Given the description of an element on the screen output the (x, y) to click on. 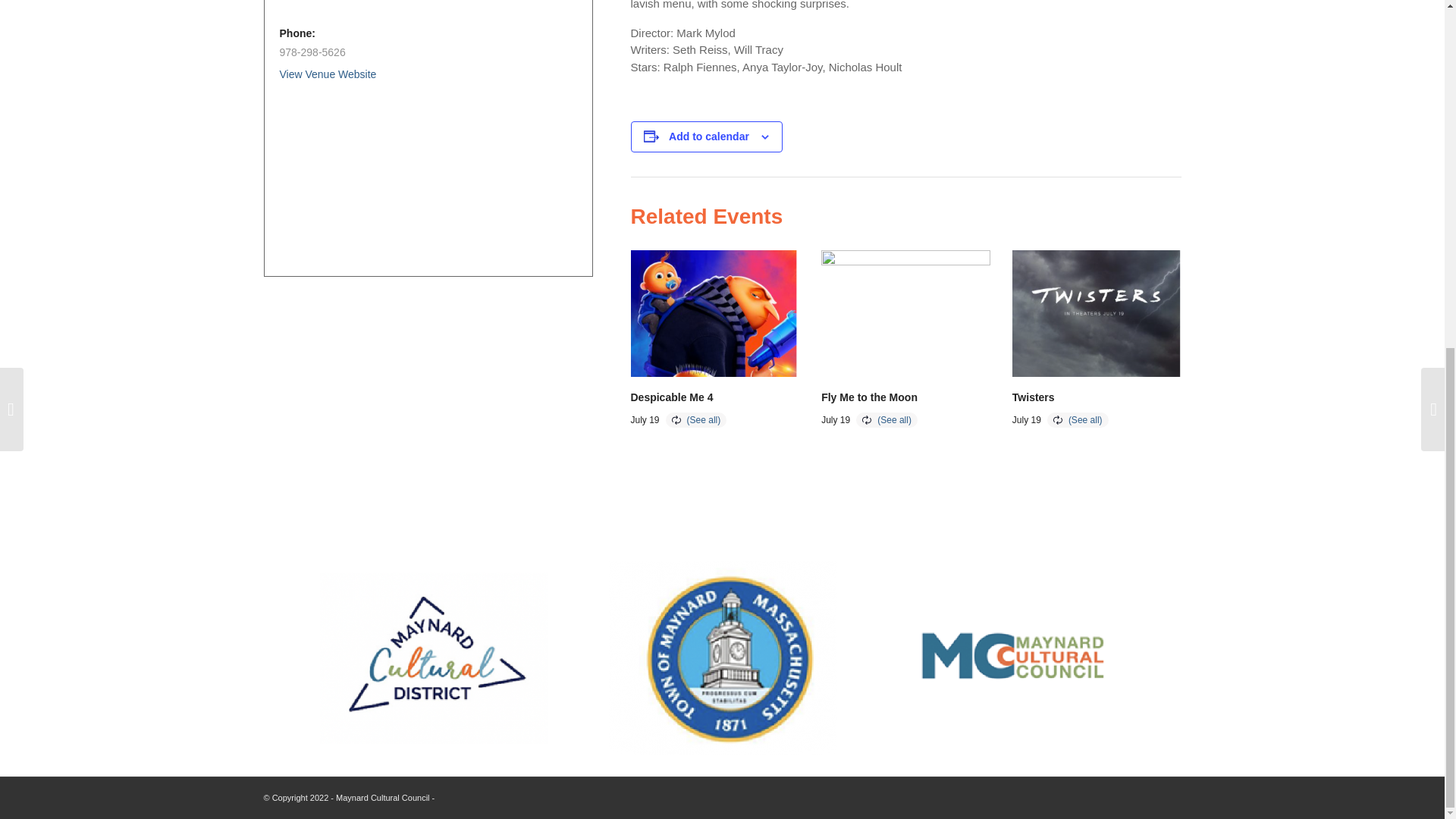
Add to calendar (708, 136)
mcc-logo (1011, 658)
Twisters (1032, 396)
Despicable Me 4 (671, 396)
mcd-logo (433, 657)
town-seal (721, 657)
Fly Me to the Moon (869, 396)
